Given the description of an element on the screen output the (x, y) to click on. 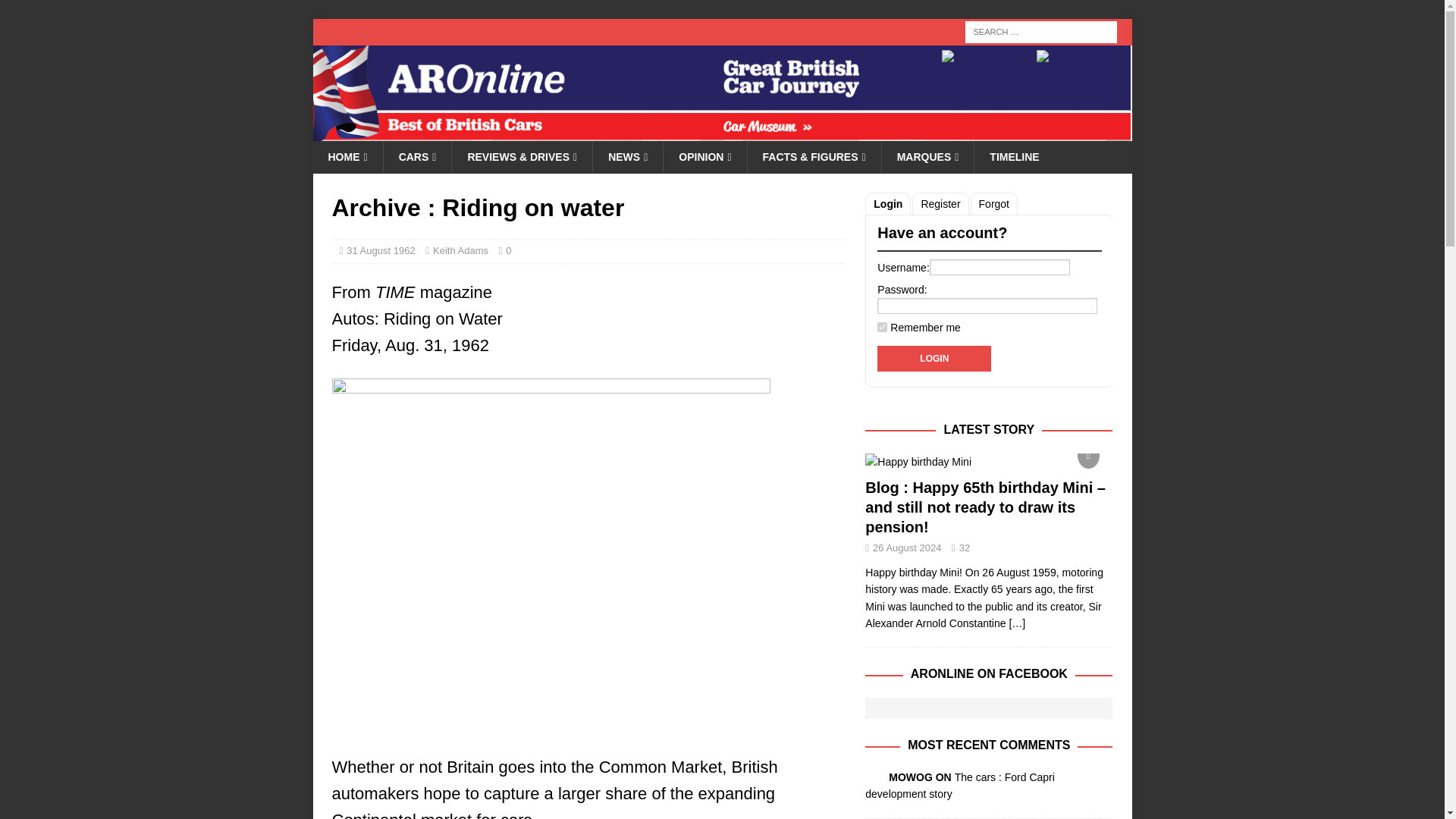
MOWOG (870, 776)
Login (934, 358)
AROnline (722, 132)
Archive : Riding on water (1017, 623)
CARS (416, 156)
AROnline model histories (416, 156)
HOME (347, 156)
forever (881, 327)
Search (56, 11)
